Given the description of an element on the screen output the (x, y) to click on. 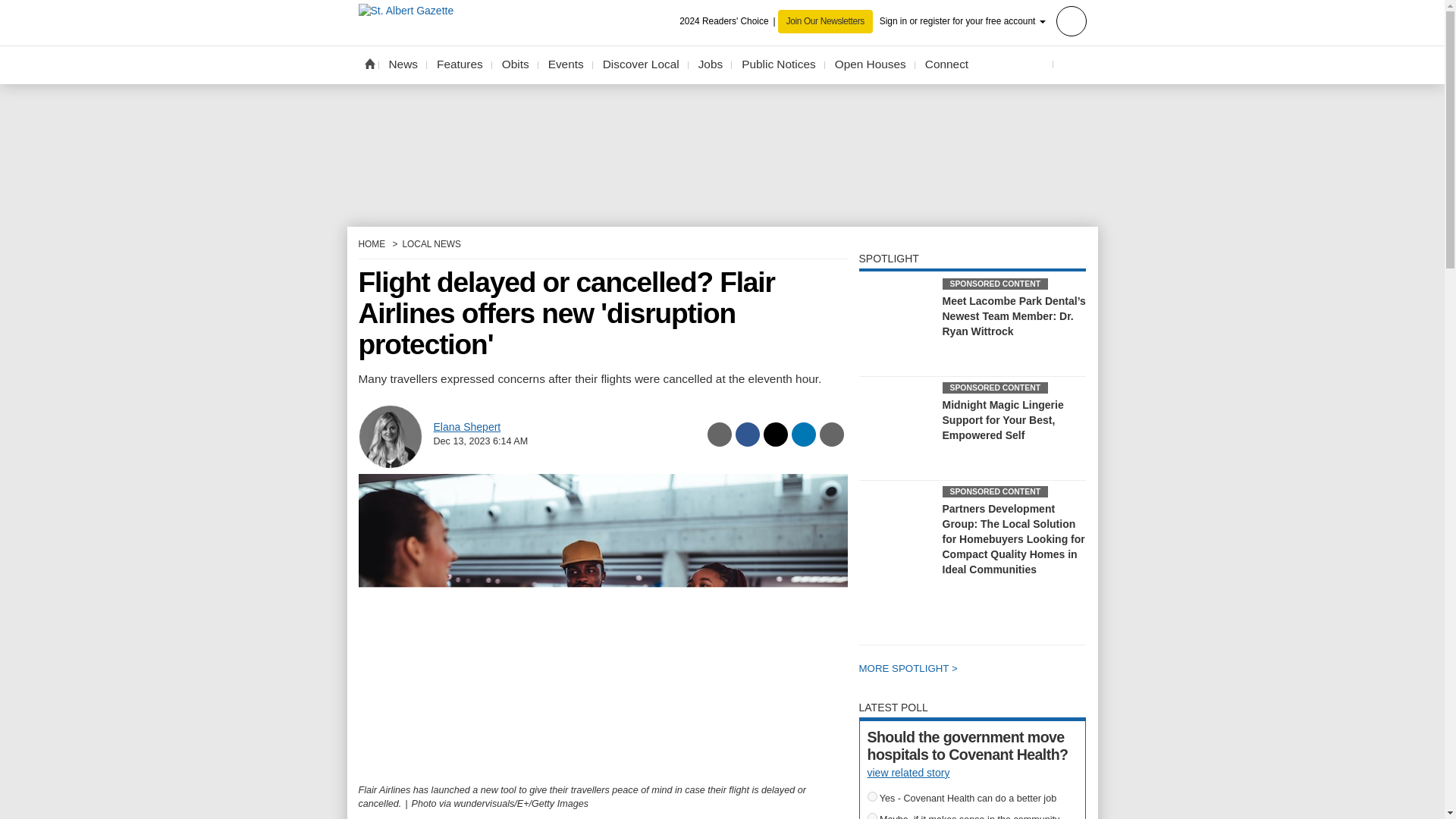
Has a gallery (1021, 331)
123733 (872, 816)
Join Our Newsletters (824, 21)
2024 Readers' Choice (728, 21)
Has a gallery (1033, 435)
Home (368, 63)
Has a gallery (1045, 570)
123732 (872, 796)
Sign in or register for your free account (982, 20)
